Given the description of an element on the screen output the (x, y) to click on. 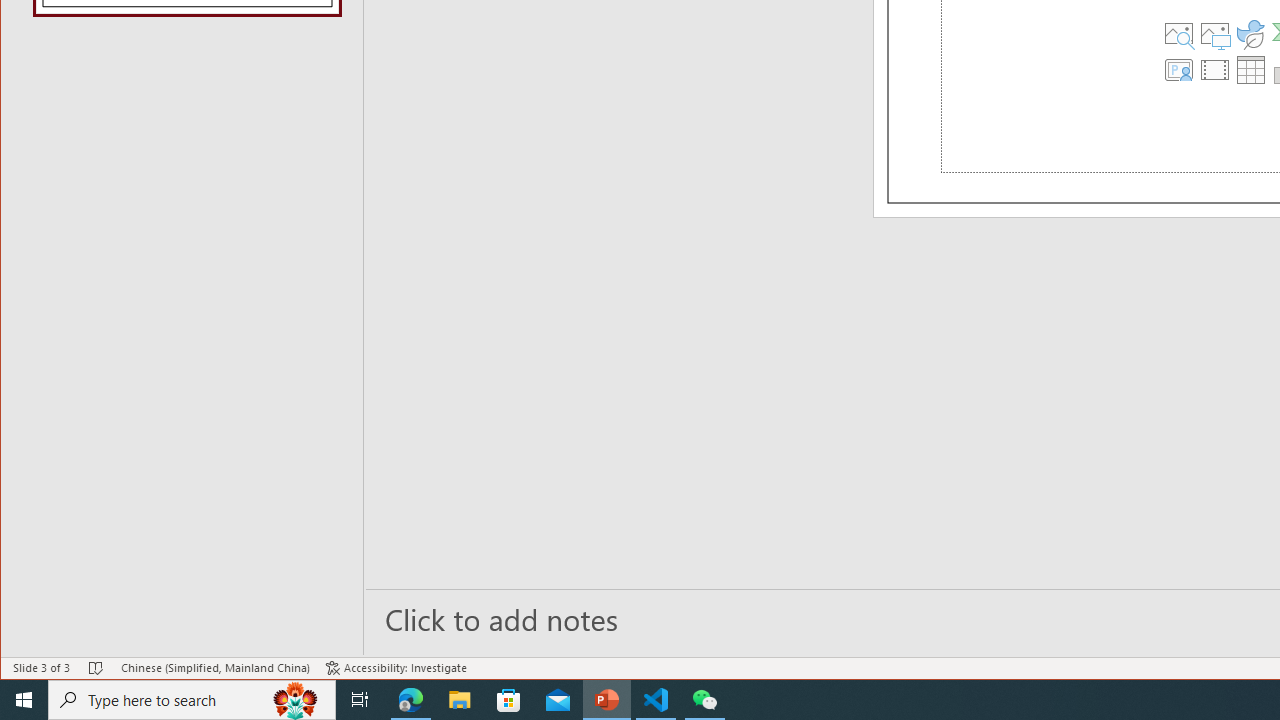
Visual Studio Code - 1 running window (656, 699)
WeChat - 1 running window (704, 699)
Pictures (1215, 33)
Microsoft Store (509, 699)
Stock Images (1179, 33)
Insert Cameo (1179, 69)
Task View (359, 699)
Insert Table (1251, 69)
Search highlights icon opens search home window (295, 699)
Microsoft Edge - 1 running window (411, 699)
PowerPoint - 1 running window (607, 699)
Insert Video (1215, 69)
